Given the description of an element on the screen output the (x, y) to click on. 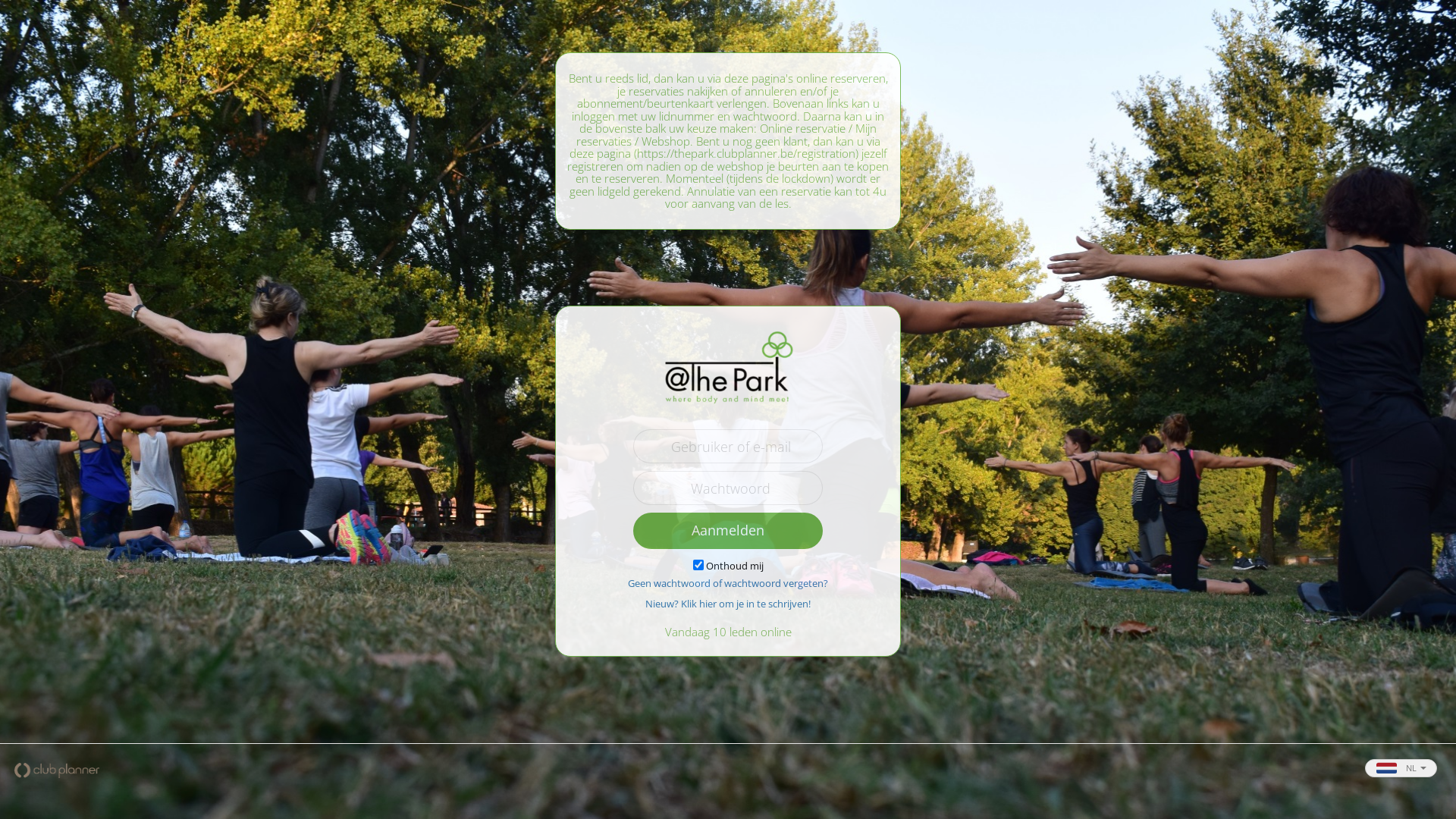
NL Element type: text (1401, 768)
Geen wachtwoord of wachtwoord vergeten? Element type: text (727, 582)
Nieuw? Klik hier om je in te schrijven! Element type: text (727, 602)
Aanmelden Element type: text (727, 530)
